Given the description of an element on the screen output the (x, y) to click on. 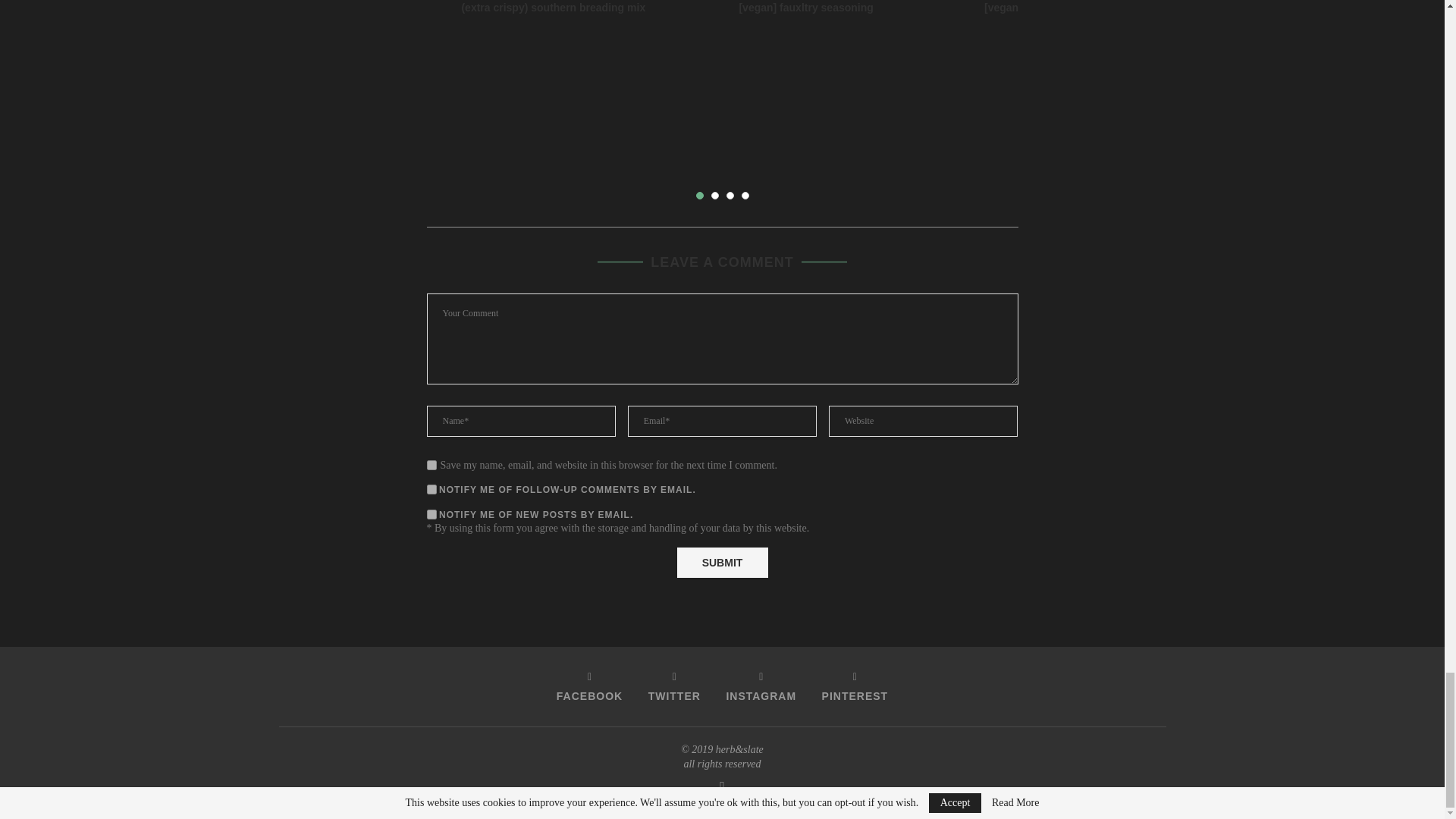
yes (430, 465)
subscribe (430, 514)
Submit (722, 562)
subscribe (430, 489)
